Given the description of an element on the screen output the (x, y) to click on. 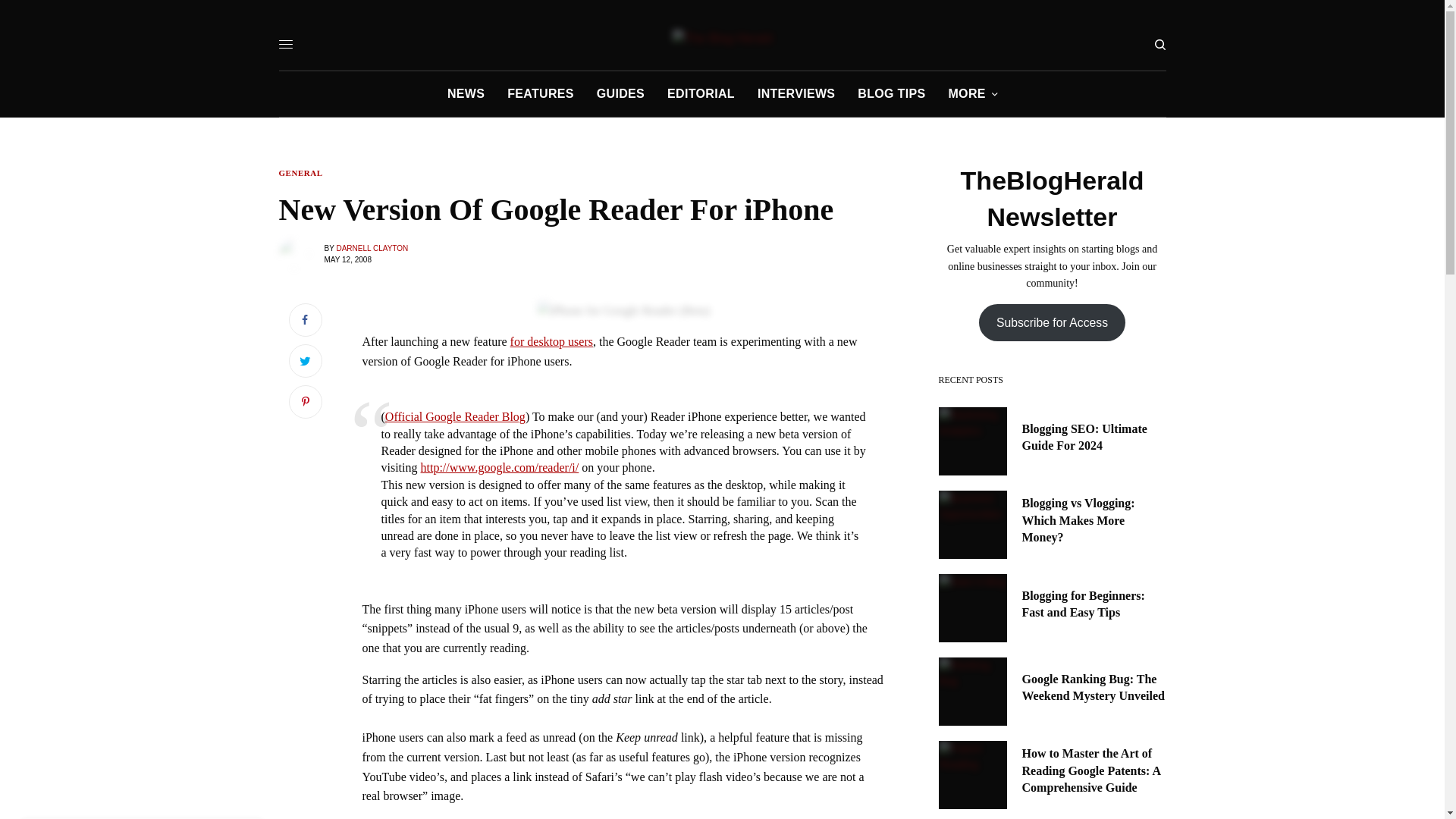
GUIDES (620, 94)
BLOG TIPS (890, 94)
MORE (972, 94)
Subscribe for Access (1051, 322)
Blogging for Beginners: Fast and Easy Tips (1094, 604)
INTERVIEWS (795, 94)
EDITORIAL (700, 94)
DARNELL CLAYTON (371, 248)
Blogging vs Vlogging: Which Makes More Money? (1094, 520)
Google Ranking Bug: The Weekend Mystery Unveiled (1094, 687)
Posts by Darnell Clayton (371, 248)
The Blog Herald (722, 38)
Blogging SEO: Ultimate Guide For 2024 (1094, 437)
Blogging SEO: Ultimate Guide For 2024 (1094, 437)
